Given the description of an element on the screen output the (x, y) to click on. 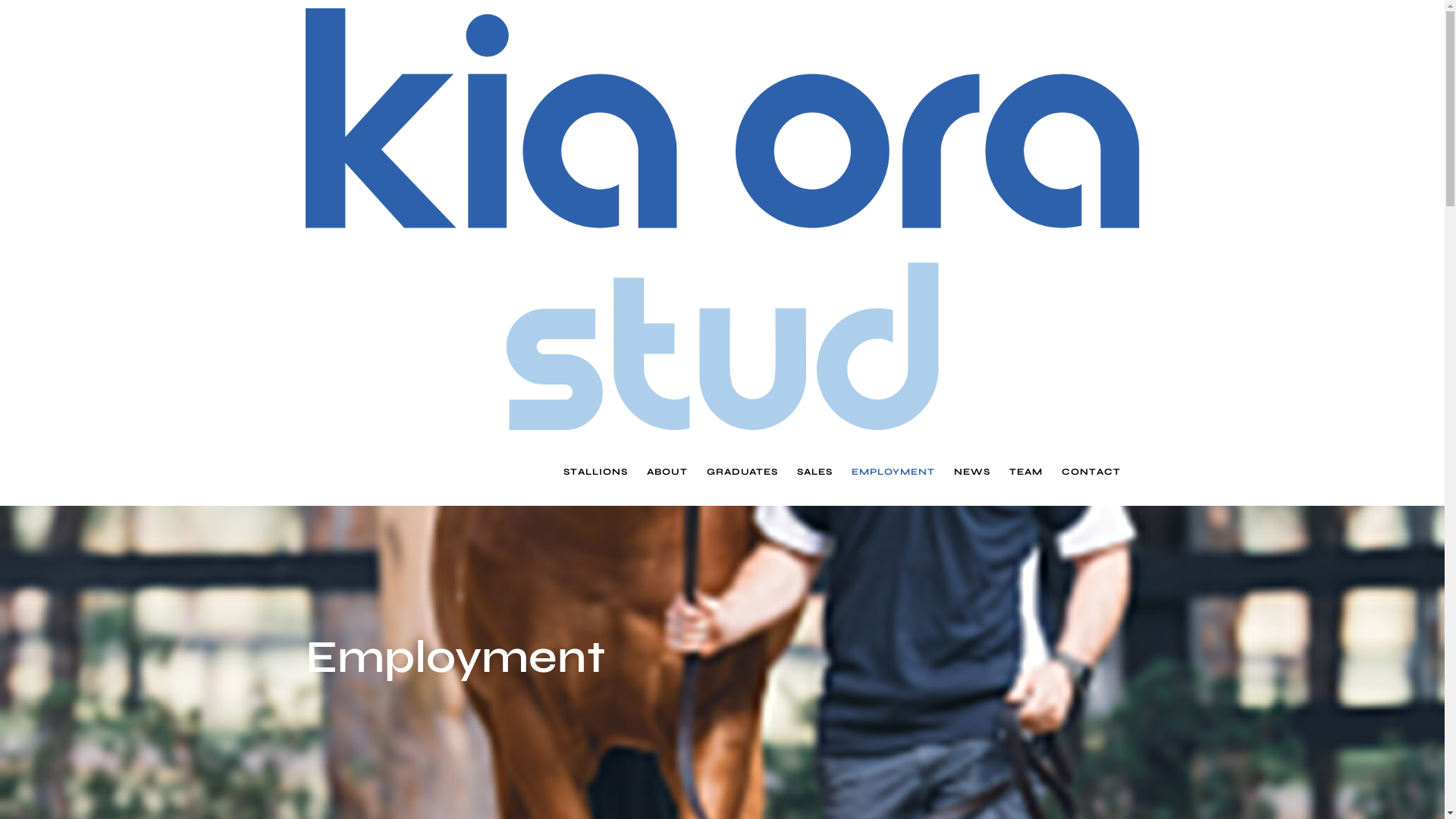
TEAM Element type: text (1024, 471)
EMPLOYMENT Element type: text (892, 471)
GRADUATES Element type: text (742, 471)
CONTACT Element type: text (1090, 471)
STALLIONS Element type: text (594, 471)
ABOUT Element type: text (666, 471)
SALES Element type: text (813, 471)
NEWS Element type: text (971, 471)
